Given the description of an element on the screen output the (x, y) to click on. 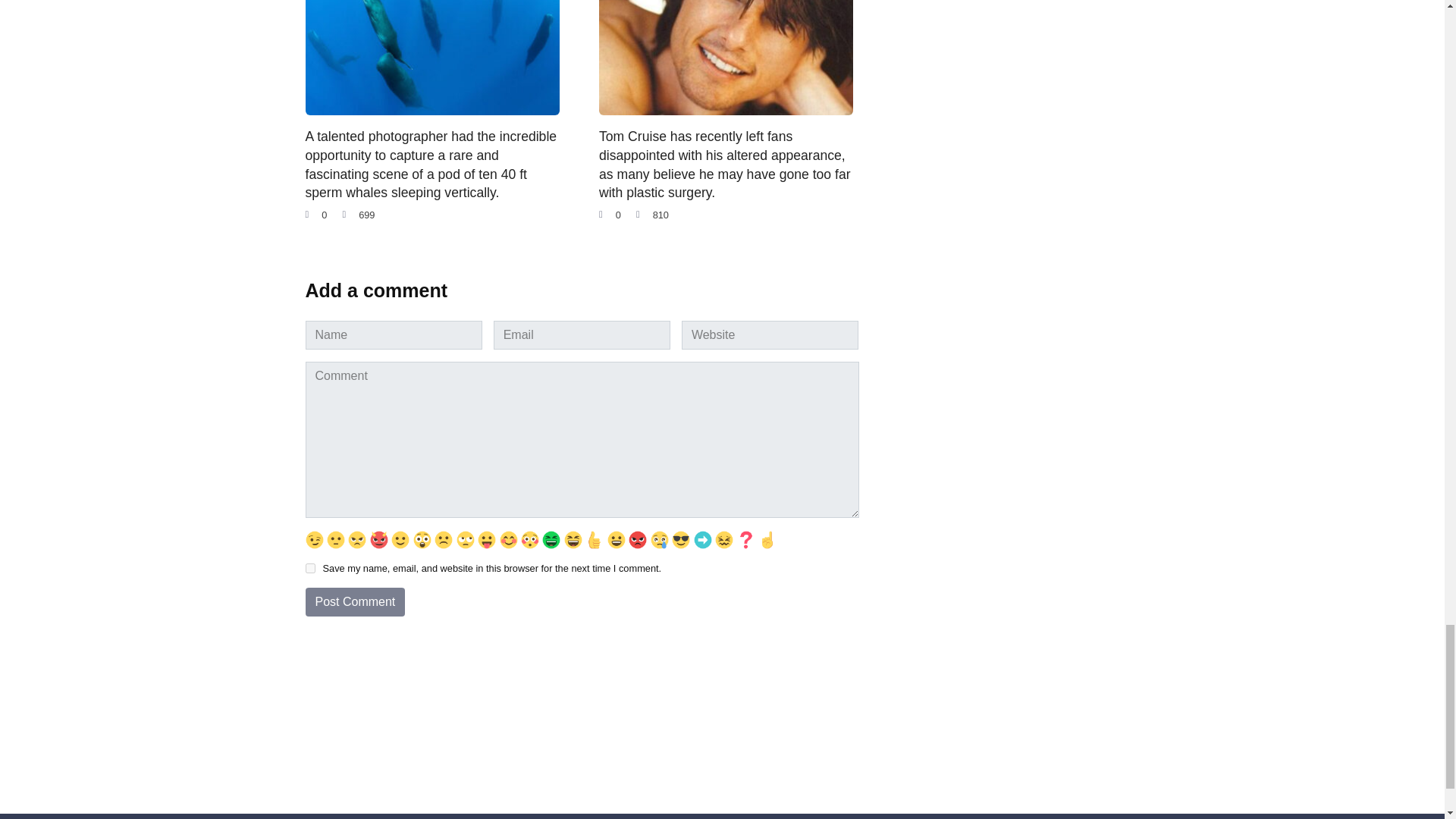
yes (309, 568)
Post Comment (354, 602)
Post Comment (354, 602)
